Given the description of an element on the screen output the (x, y) to click on. 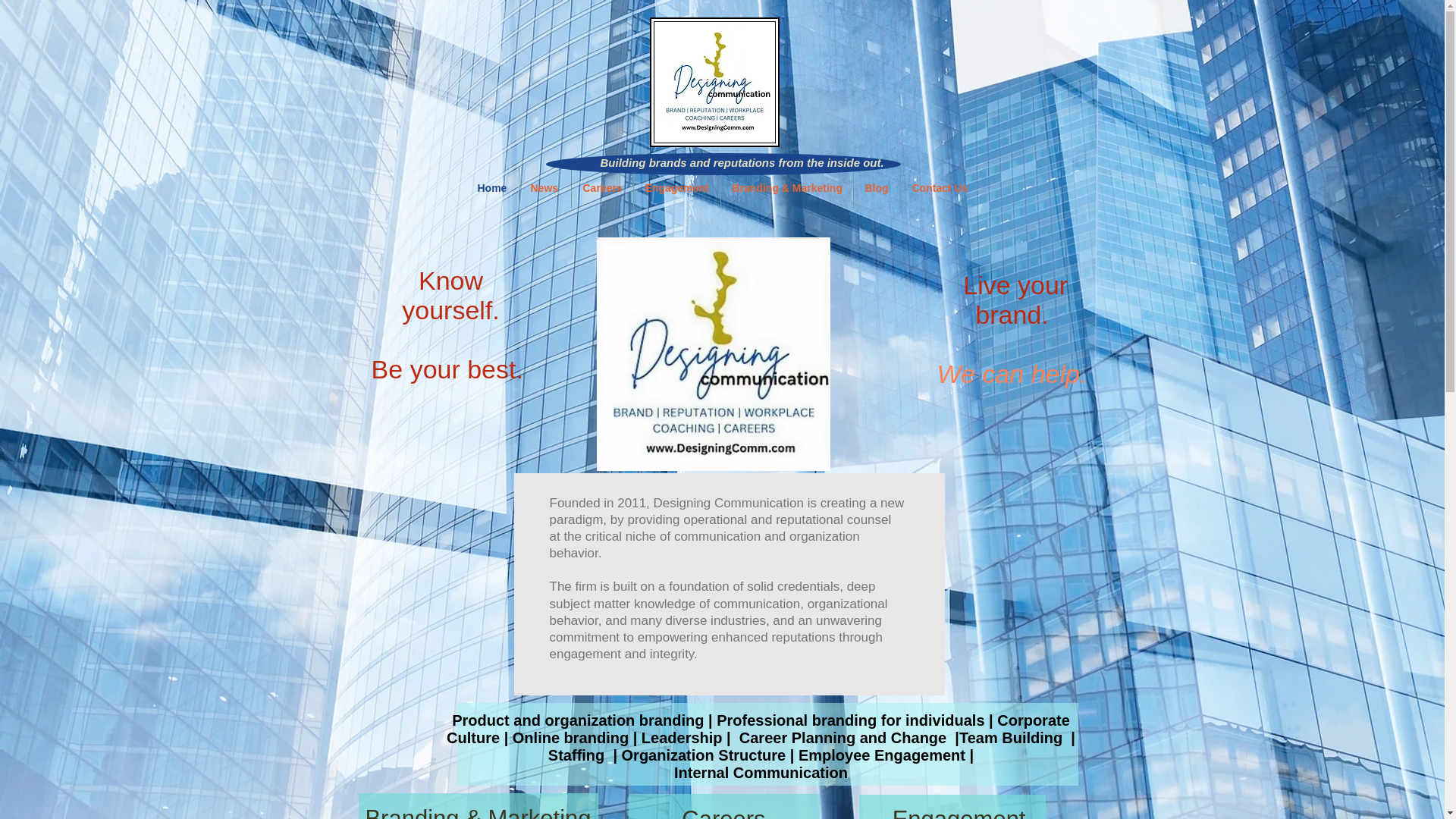
Careers (602, 187)
Contact Us (939, 187)
Engagement (952, 806)
Careers (722, 806)
Home (491, 187)
News (544, 187)
Blog (876, 187)
Engagement (676, 187)
